Given the description of an element on the screen output the (x, y) to click on. 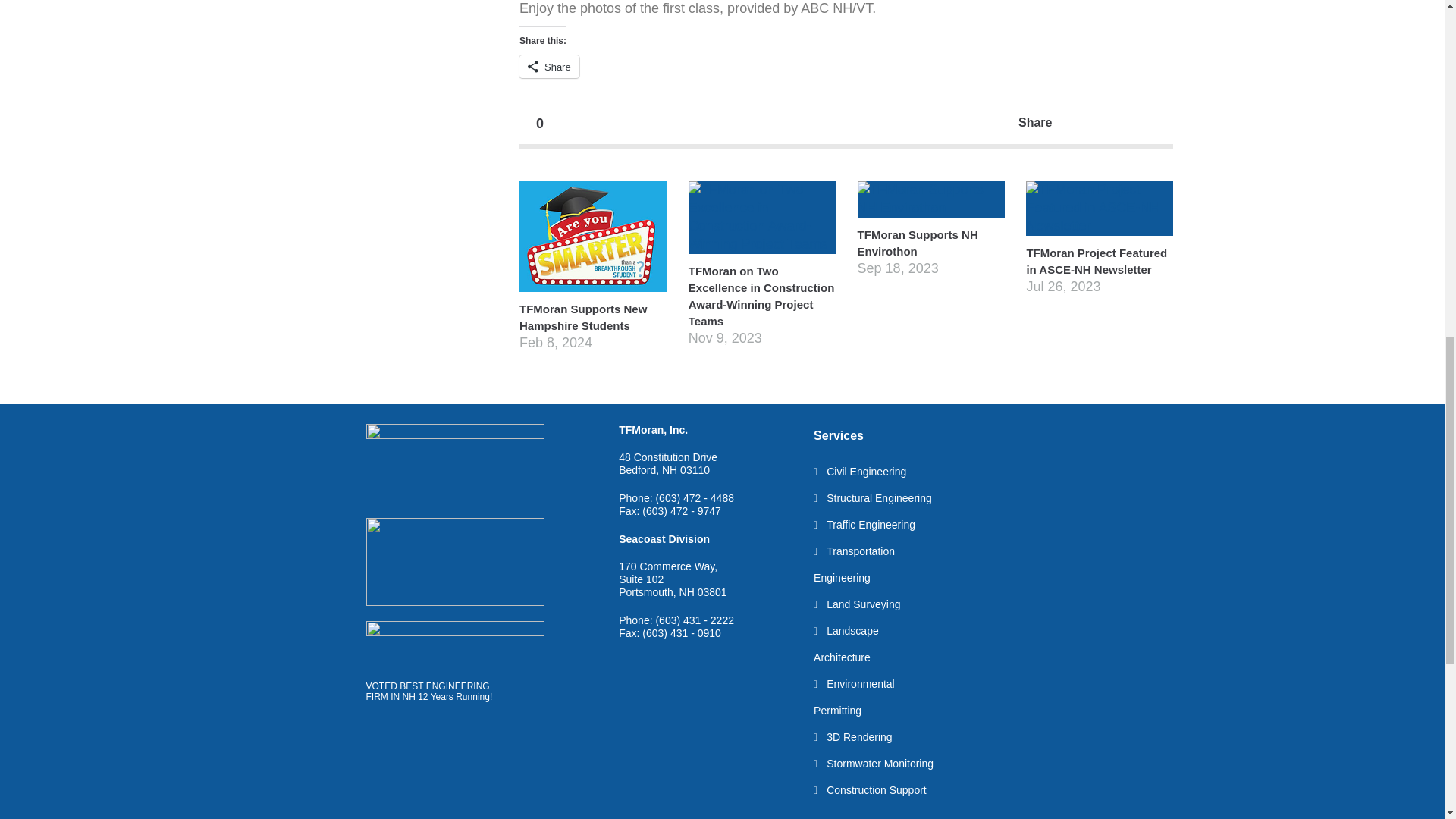
Tweet on Twitter (1066, 123)
Like on Facebook (1096, 123)
TFMoran Supports New Hampshire Students (592, 235)
Pin it on Pinterest (1157, 123)
TFMoran Supports New Hampshire Students (582, 317)
TFMoran Supports New Hampshire Students (592, 281)
